Given the description of an element on the screen output the (x, y) to click on. 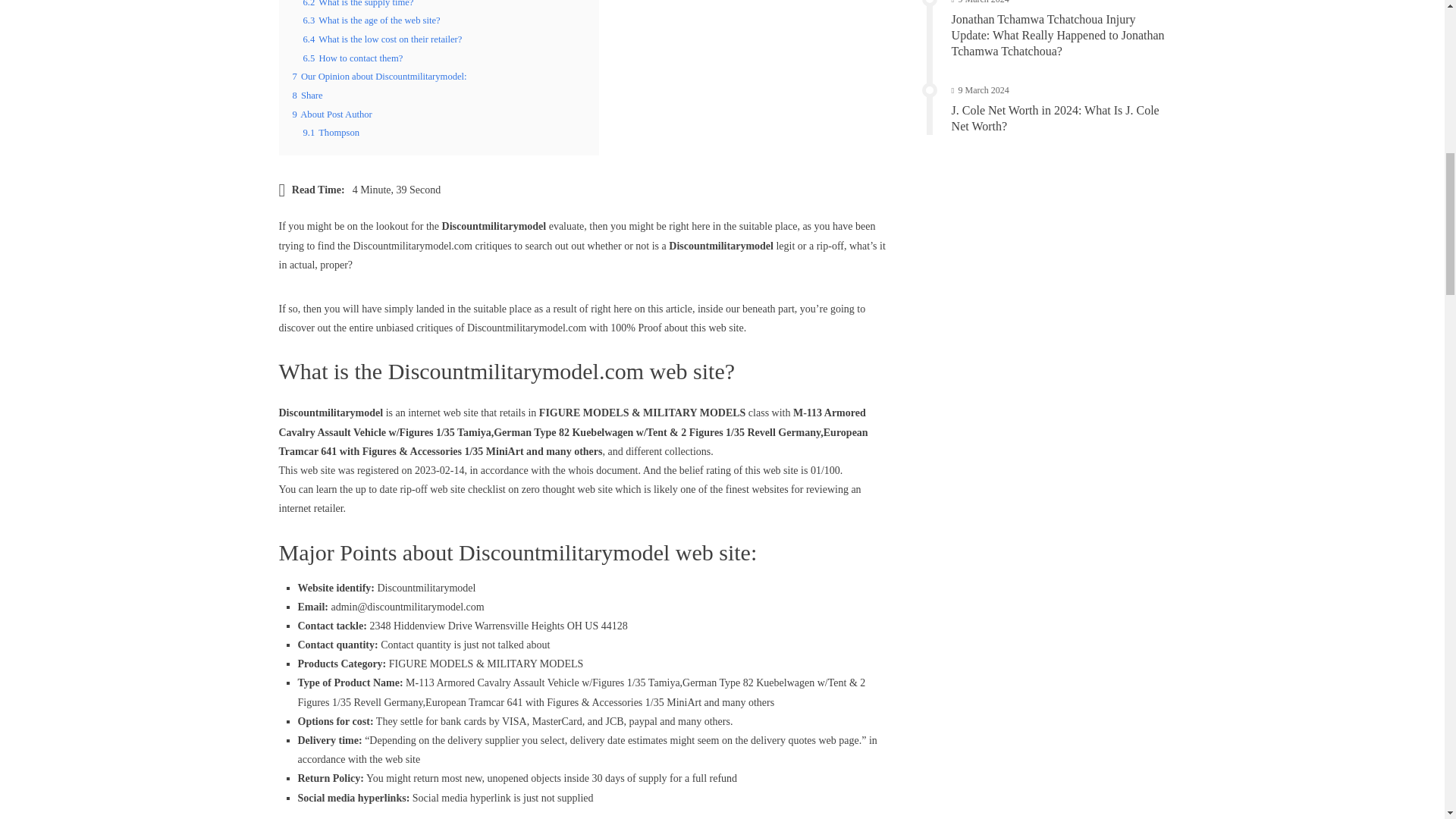
9 About Post Author (332, 113)
6.4 What is the low cost on their retailer? (382, 39)
7 Our Opinion about Discountmilitarymodel: (379, 76)
6.5 How to contact them? (352, 58)
9.1 Thompson (330, 132)
8 Share (307, 95)
6.3 What is the age of the web site? (371, 20)
6.2 What is the supply time? (357, 3)
